Given the description of an element on the screen output the (x, y) to click on. 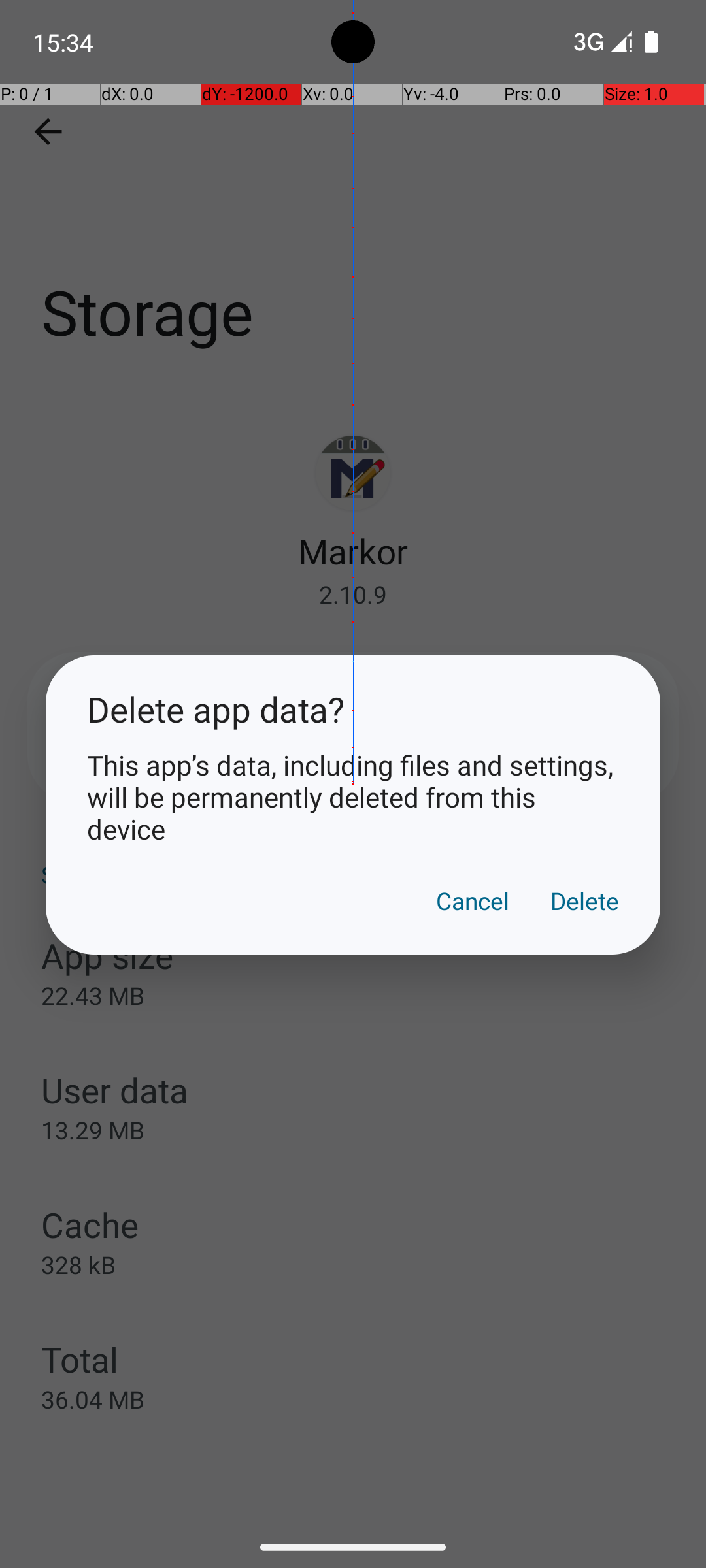
Delete app data? Element type: android.widget.TextView (352, 709)
This app’s data, including files and settings, will be permanently deleted from this device Element type: android.widget.TextView (352, 796)
